Given the description of an element on the screen output the (x, y) to click on. 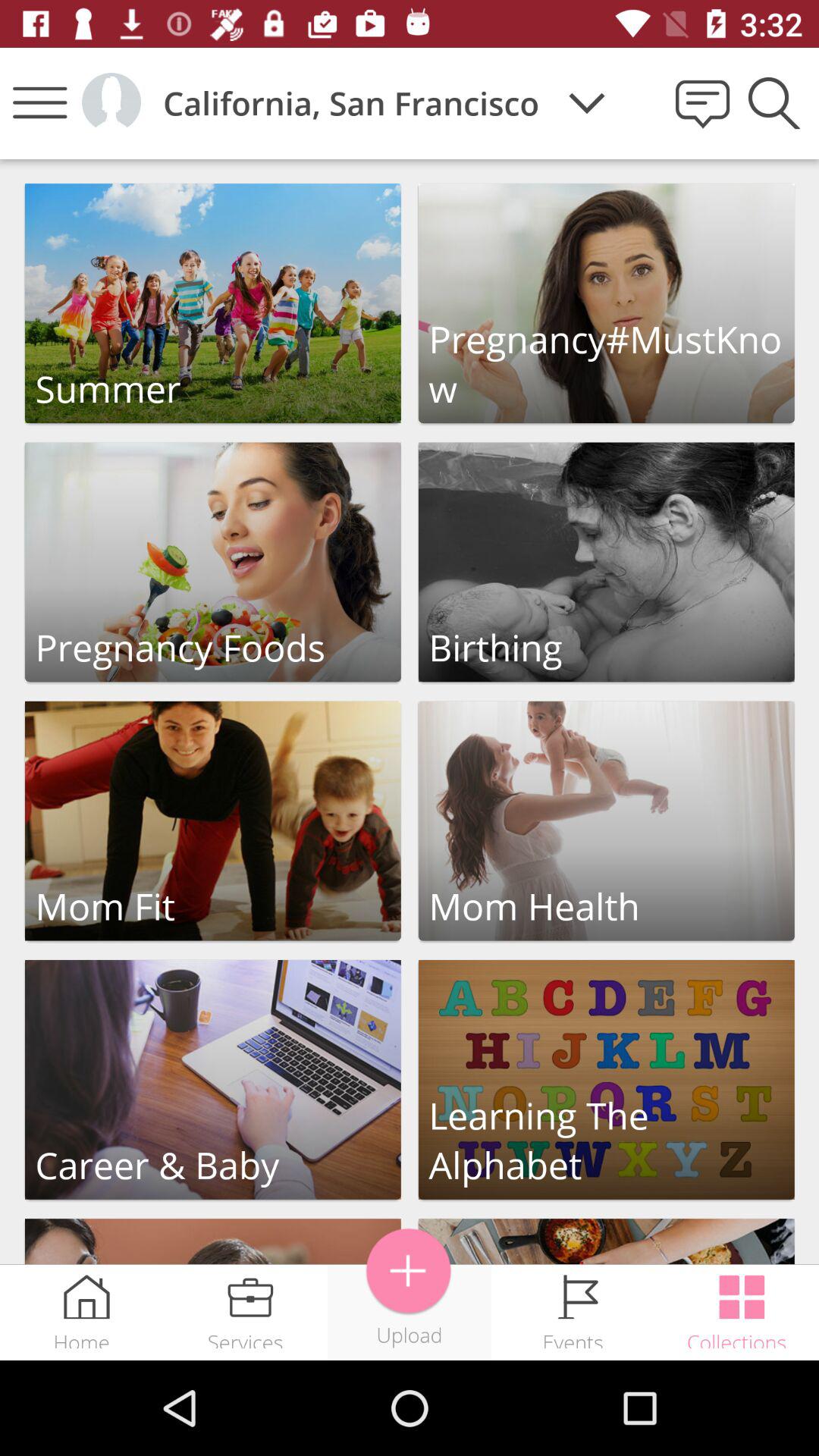
view pregnancy foods (212, 561)
